Given the description of an element on the screen output the (x, y) to click on. 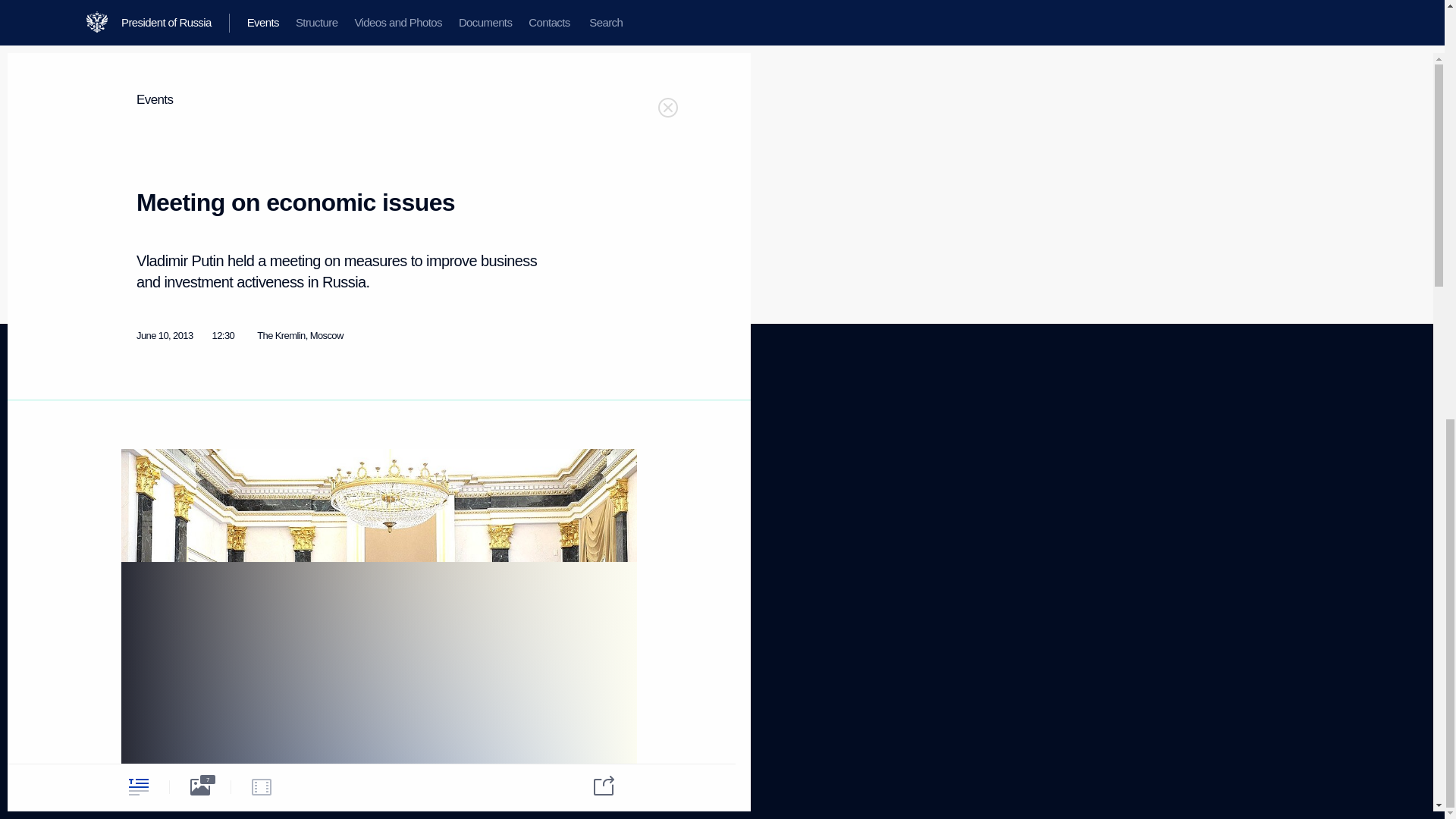
Using website content (574, 460)
Subscribe (140, 606)
Videos and Photos (158, 478)
Version for People with Disabilities (165, 668)
Search (134, 535)
Contact website team (573, 510)
The Constitution of Russia (309, 472)
Personal data of website users (579, 485)
Telegram Channel (430, 455)
Sergei Ivanov (358, 4)
